Given the description of an element on the screen output the (x, y) to click on. 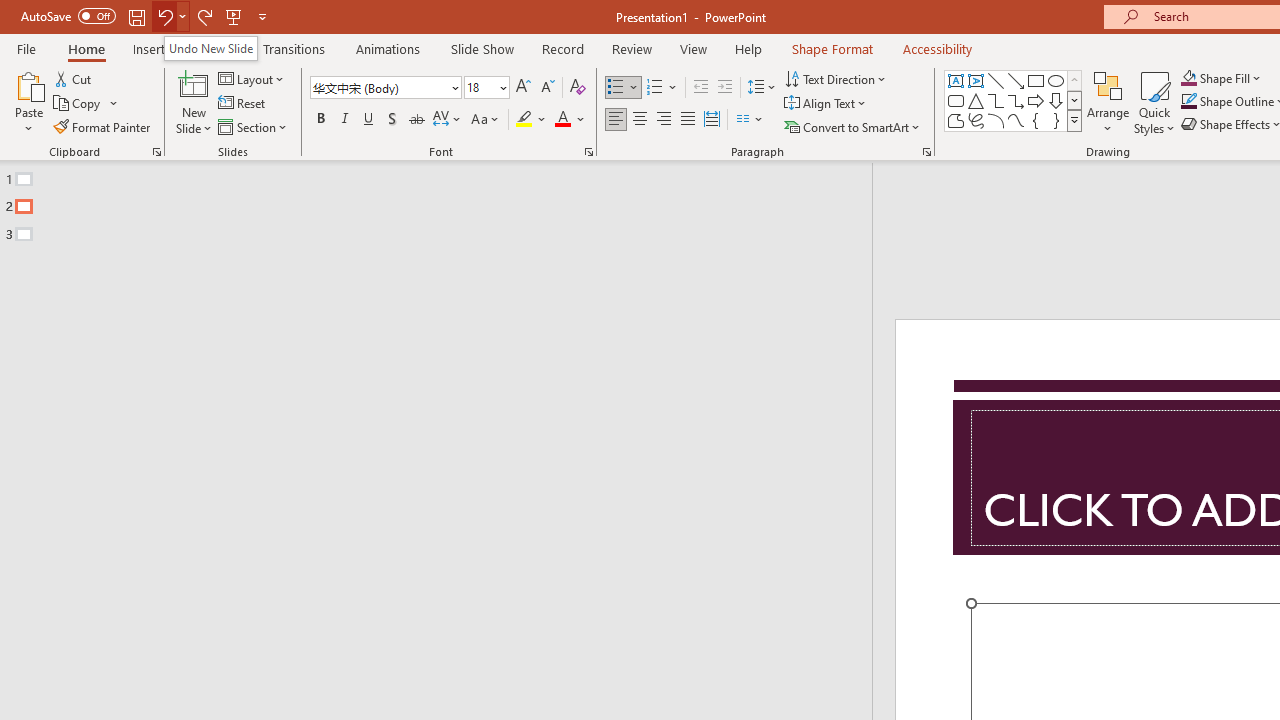
Undo New Slide (210, 48)
